Given the description of an element on the screen output the (x, y) to click on. 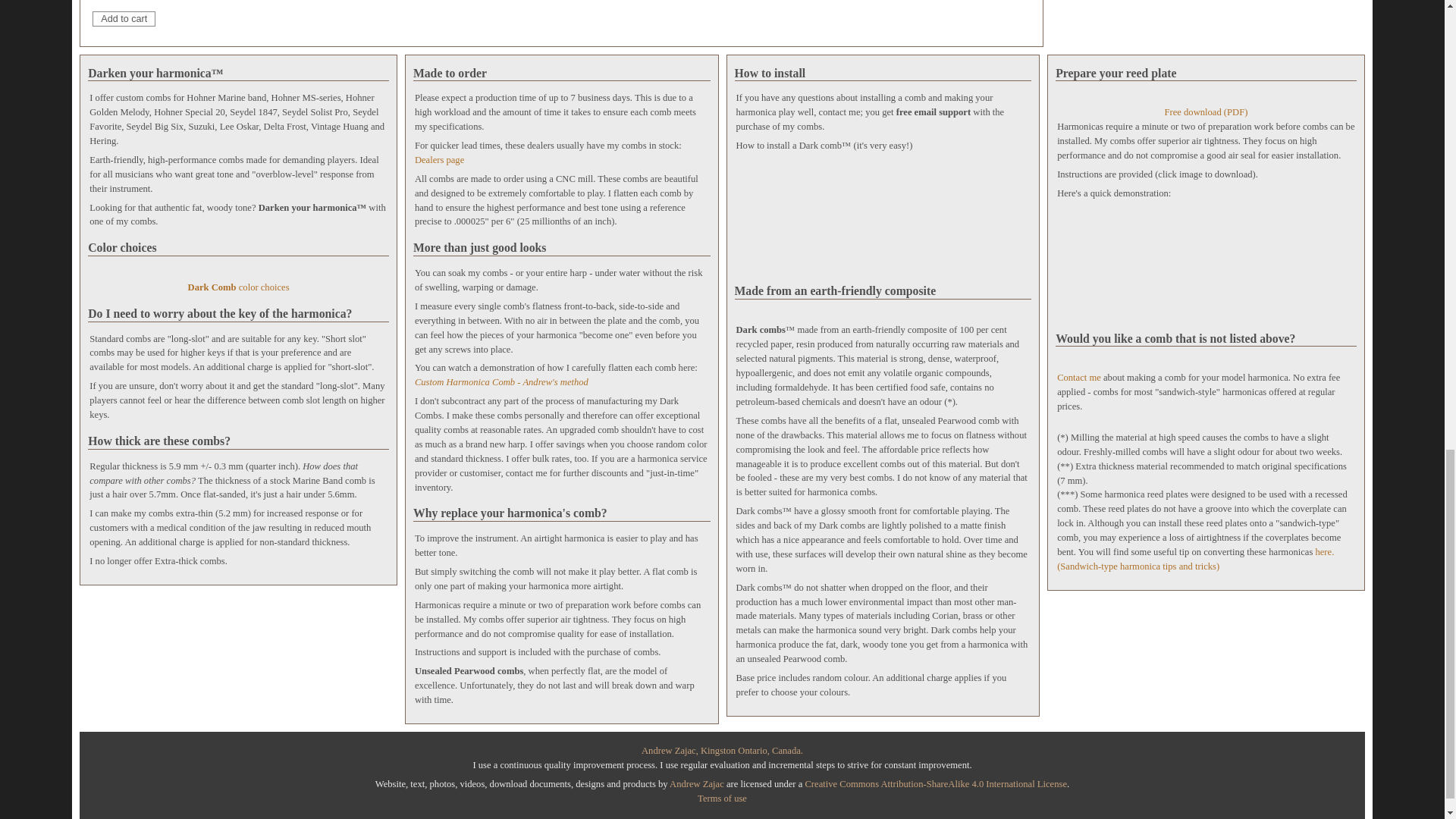
Add to cart (124, 18)
Andrew Zajac (696, 783)
Contact me (1078, 377)
Andrew Zajac, Kingston Ontario, Canada. (722, 750)
Add to cart (124, 18)
Custom Harmonica Comb - Andrew's method (501, 381)
Dealers page (439, 159)
Dark Comb color choices (237, 280)
Terms of use (721, 798)
